Given the description of an element on the screen output the (x, y) to click on. 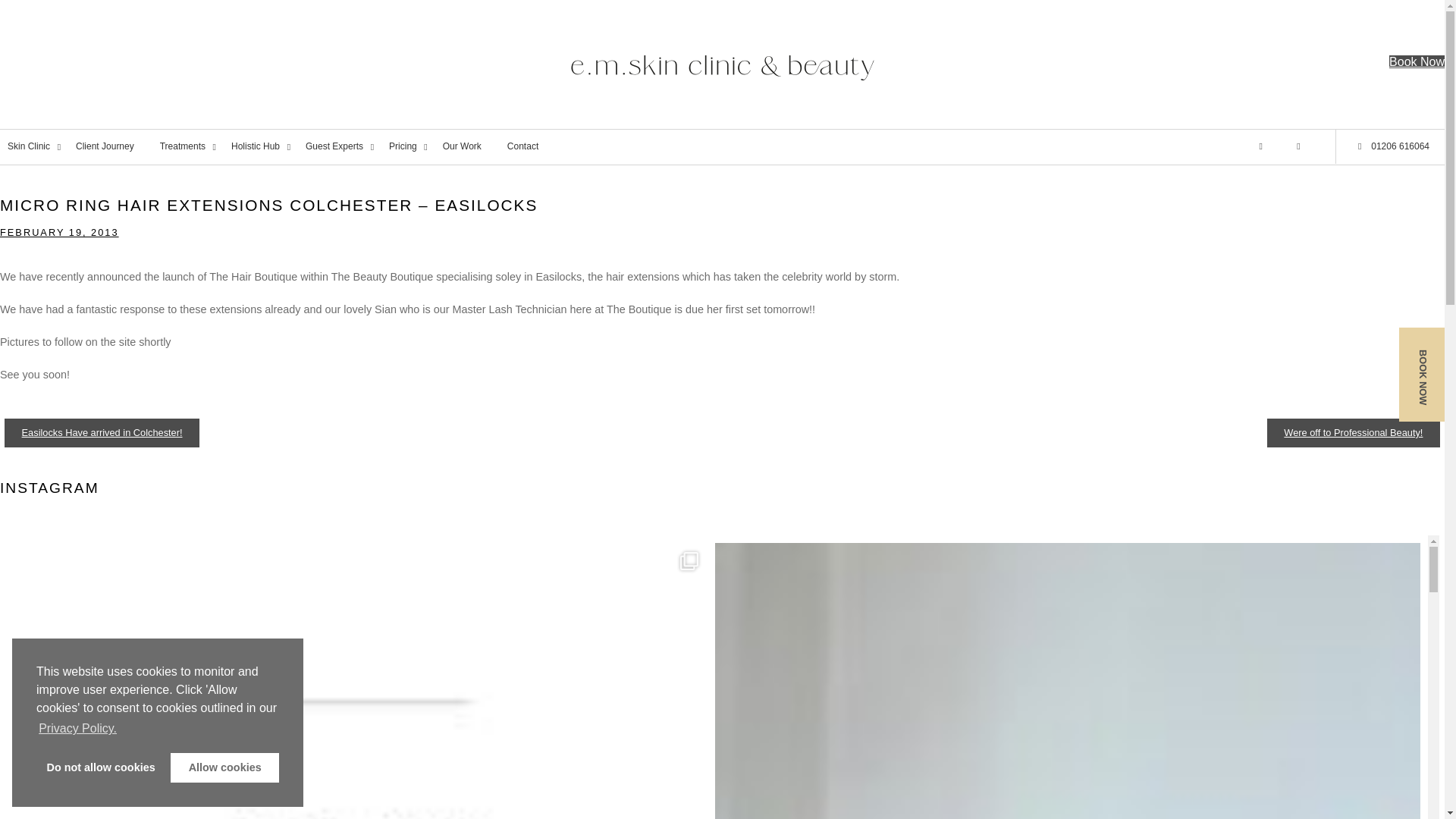
Allow cookies (224, 767)
Skin Clinic (34, 146)
Do not allow cookies (100, 767)
Privacy Policy. (77, 728)
